Given the description of an element on the screen output the (x, y) to click on. 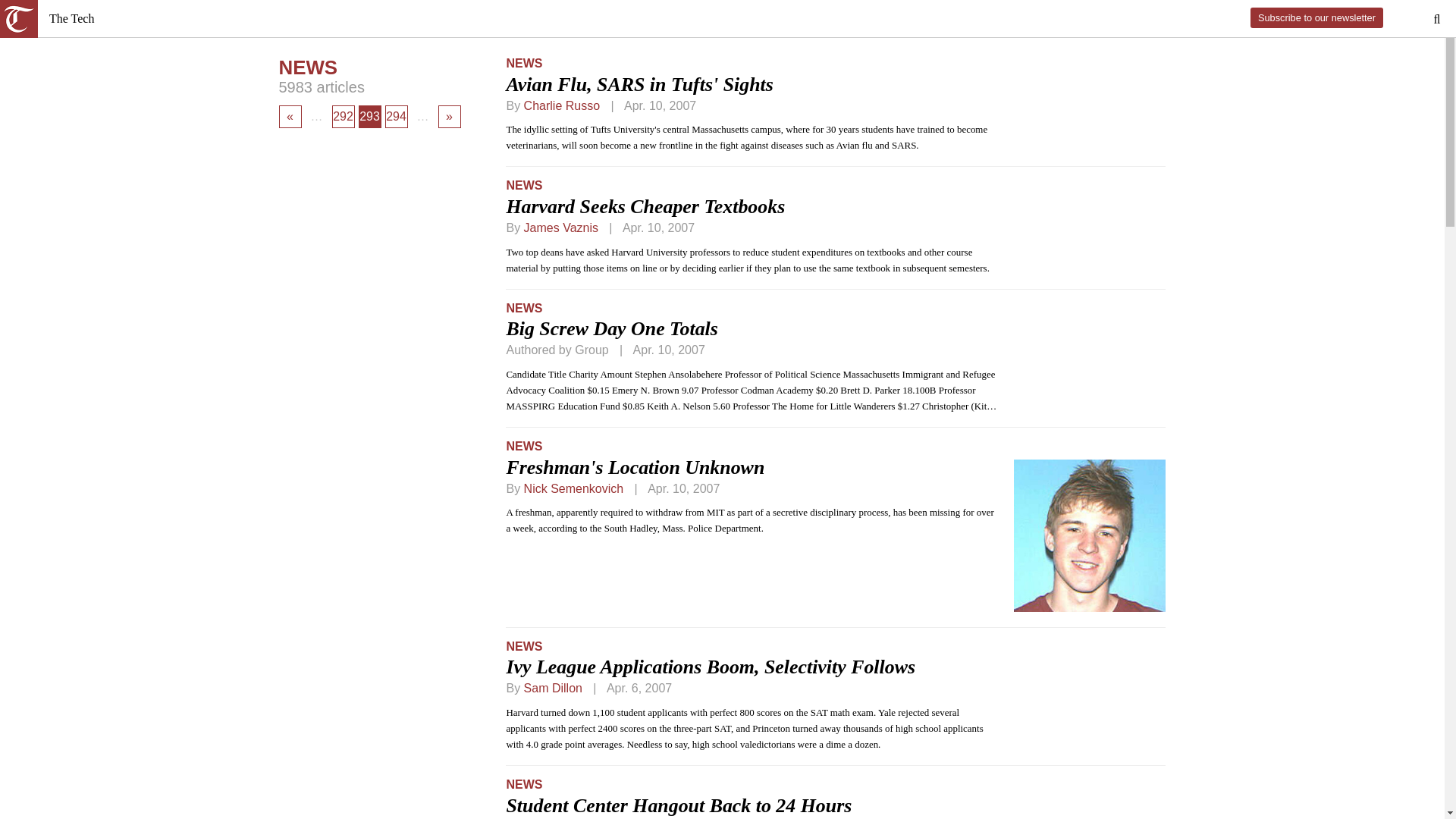
294 (396, 116)
James Vaznis (561, 227)
Subscribe to our newsletter (1316, 17)
NEWS (523, 185)
Avian Flu, SARS in Tufts' Sights (639, 84)
Harvard Seeks Cheaper Textbooks (644, 206)
Big Screw Day One Totals (611, 328)
NEWS (523, 62)
Charlie Russo (561, 105)
292 (343, 116)
